Given the description of an element on the screen output the (x, y) to click on. 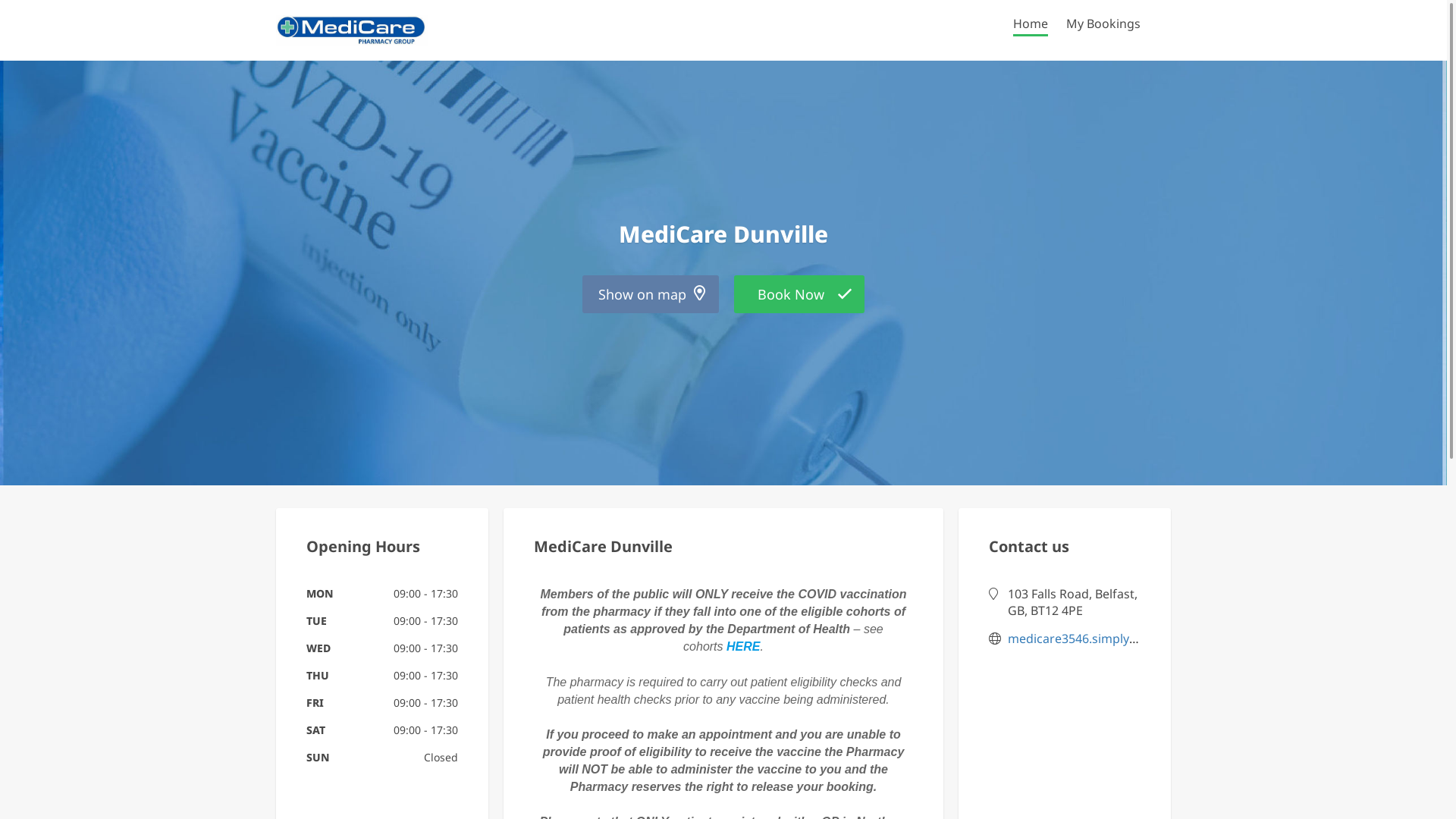
My Bookings Element type: text (1103, 25)
medicare3546.simplybook.cc Element type: text (1090, 638)
Book Now Element type: text (798, 294)
Home Element type: text (1030, 25)
HERE Element type: text (742, 646)
Show on map Element type: text (650, 294)
